Given the description of an element on the screen output the (x, y) to click on. 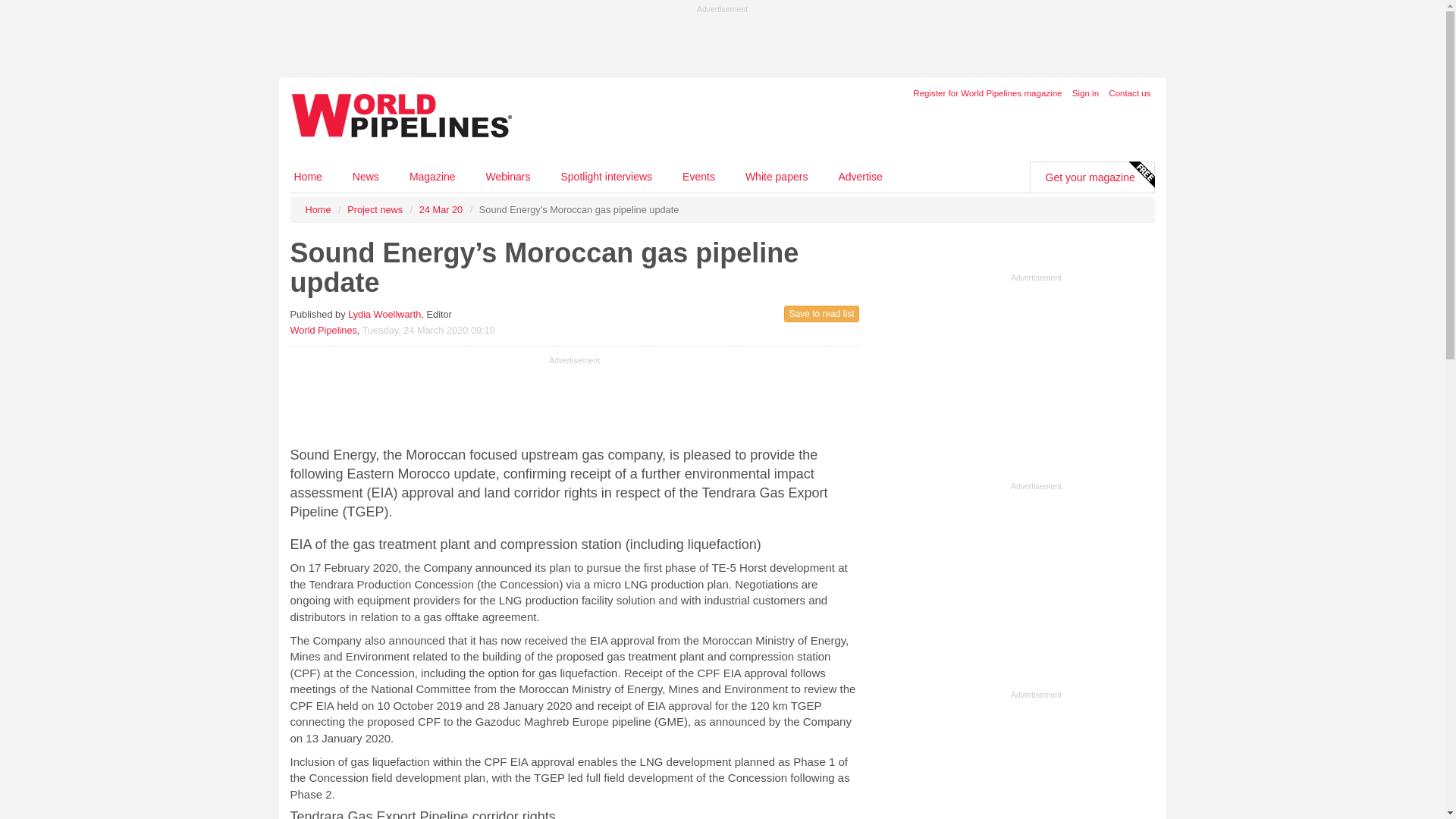
World Pipelines (322, 329)
Sign in (1085, 92)
Events (698, 176)
Spotlight interviews (605, 176)
Webinars (508, 176)
Get your magazine (1091, 177)
Project news (375, 209)
Magazine (432, 176)
Lydia Woellwarth (383, 314)
Register for World Pipelines magazine (986, 92)
